Given the description of an element on the screen output the (x, y) to click on. 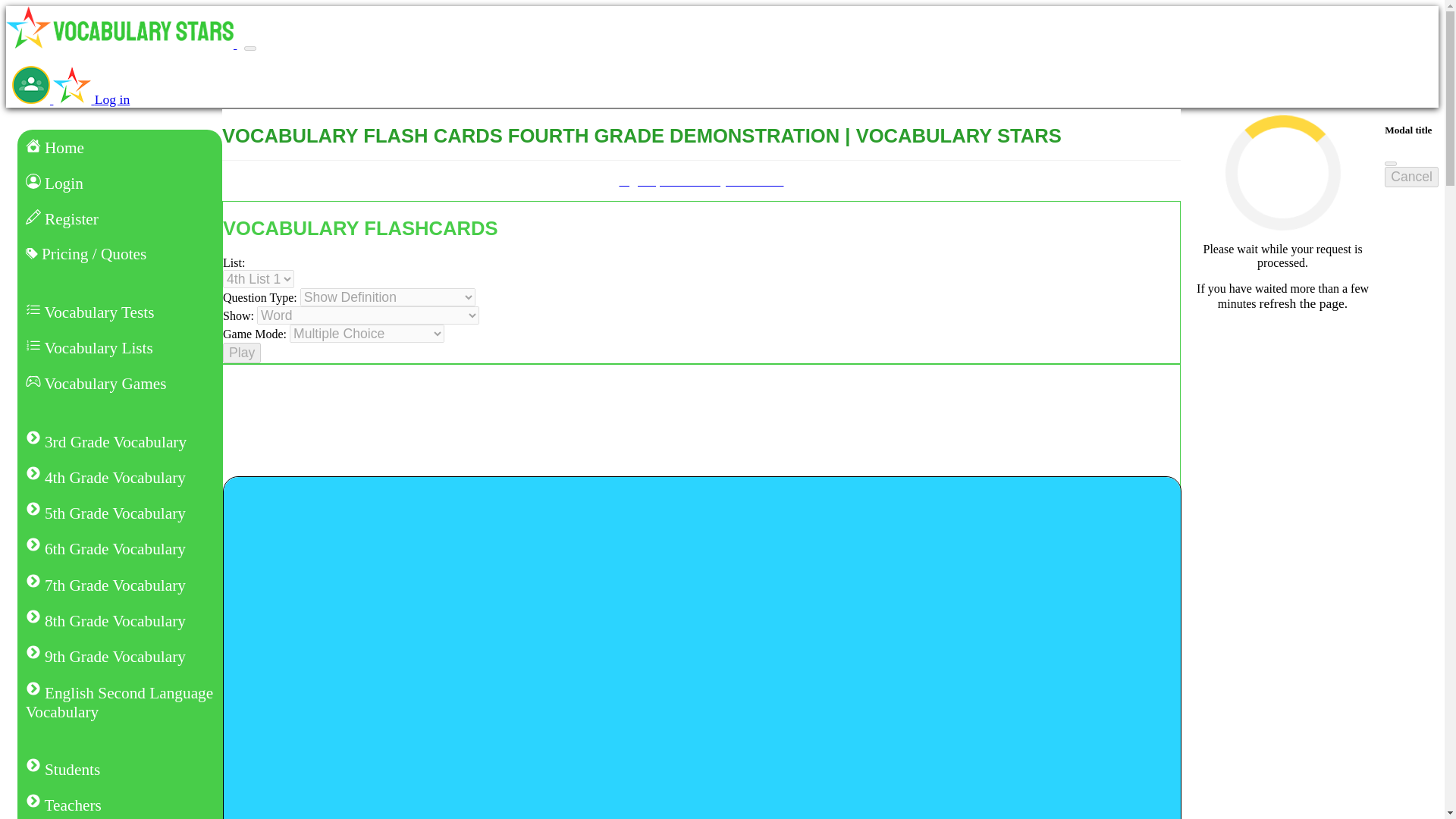
4th Grade Vocabulary (119, 477)
Students (119, 769)
Vocabulary Lists (119, 347)
refresh the page. (1303, 303)
5th Grade Vocabulary (119, 512)
8th Grade Vocabulary (119, 620)
7th Grade Vocabulary (119, 584)
Register (119, 218)
Login (119, 182)
Vocabulary Games (119, 384)
